Given the description of an element on the screen output the (x, y) to click on. 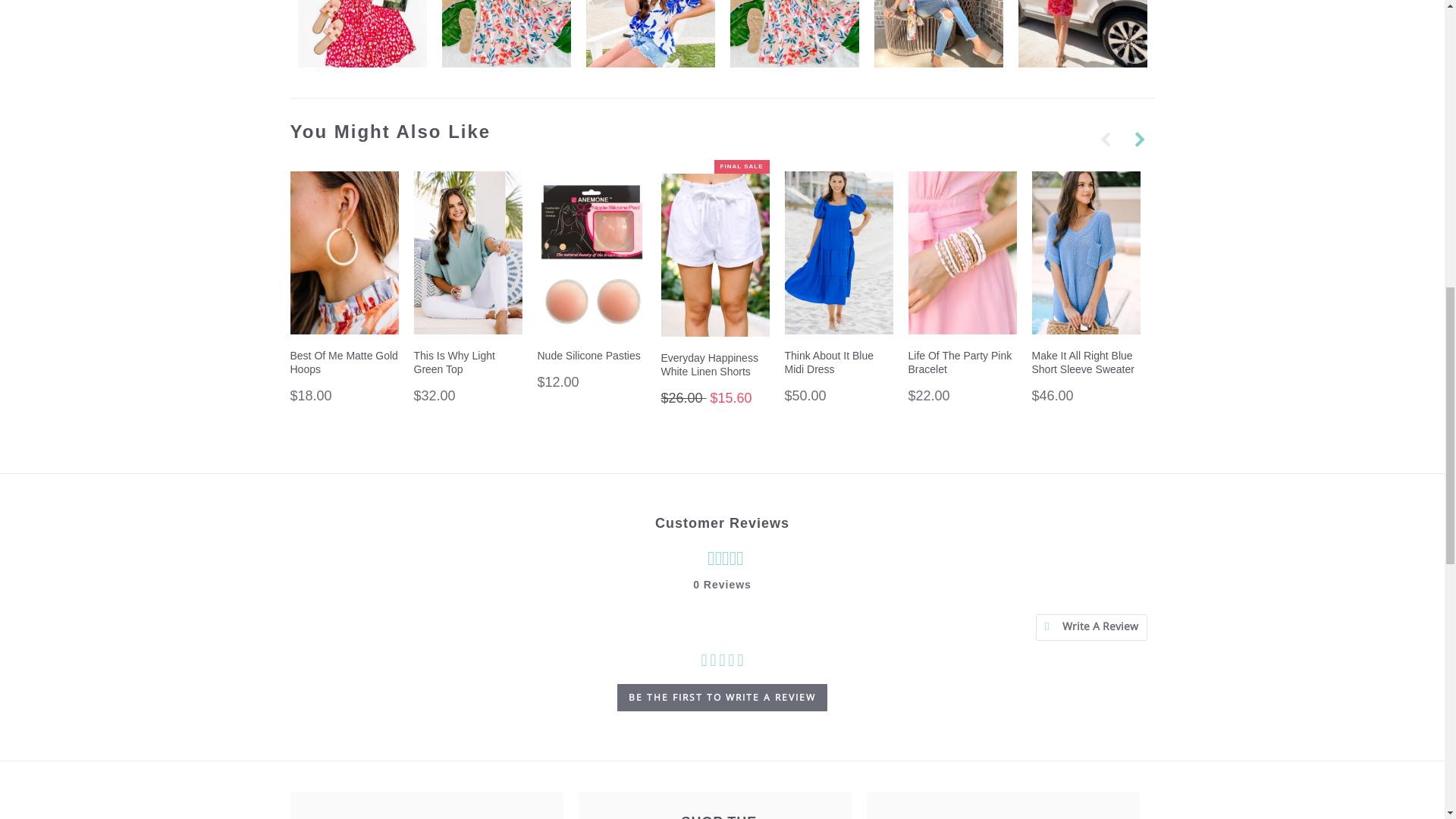
Go to product Best Of Me Matte Gold Hoops (343, 377)
Go to product Everyday Happiness White Linen Shorts (715, 379)
Go to product Think About It Blue Midi Dress (838, 377)
Go to product This Is Why Light Green Top (467, 377)
Go to product Nude Silicone Pasties (591, 370)
